Given the description of an element on the screen output the (x, y) to click on. 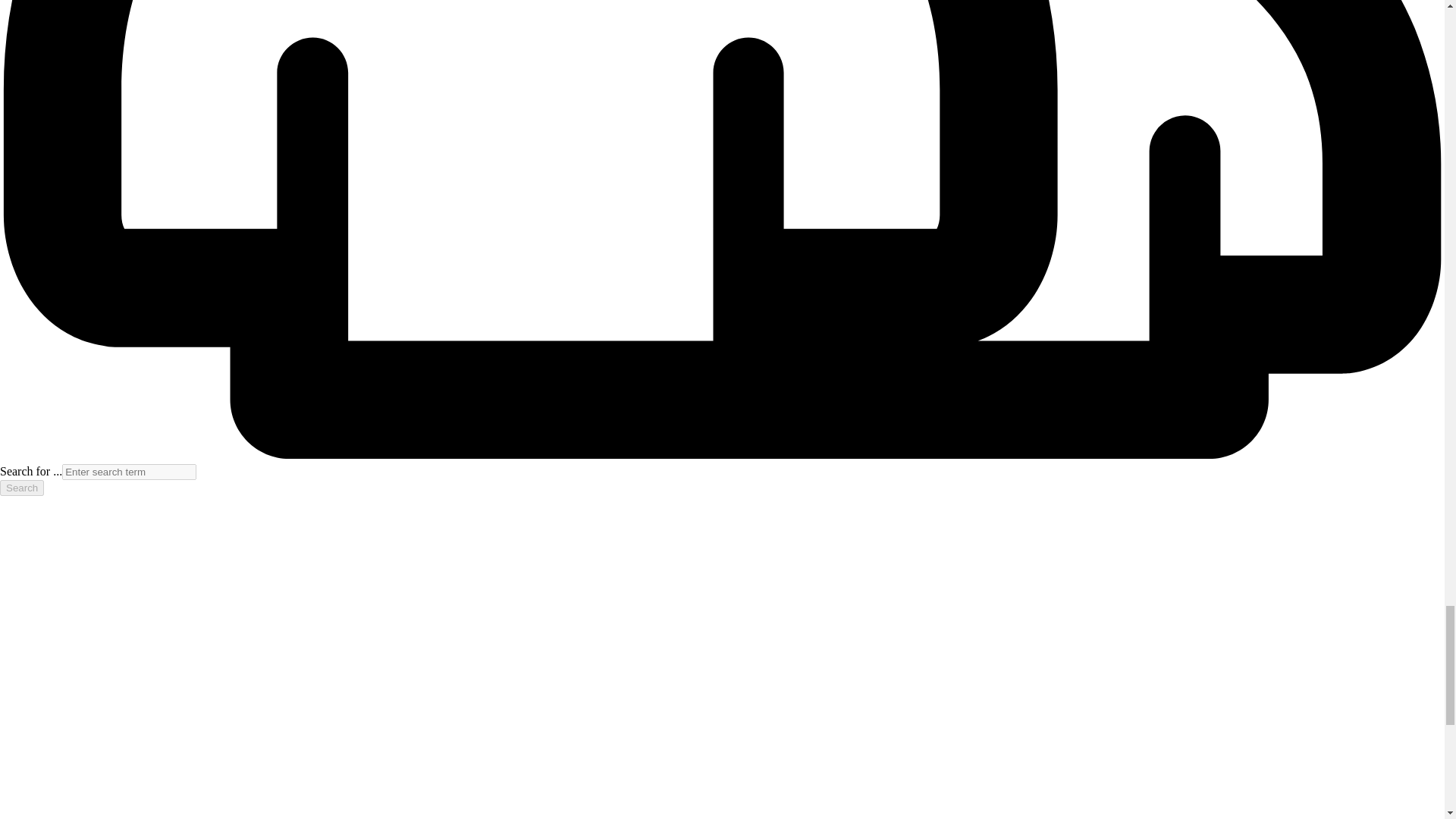
Search (21, 487)
